Given the description of an element on the screen output the (x, y) to click on. 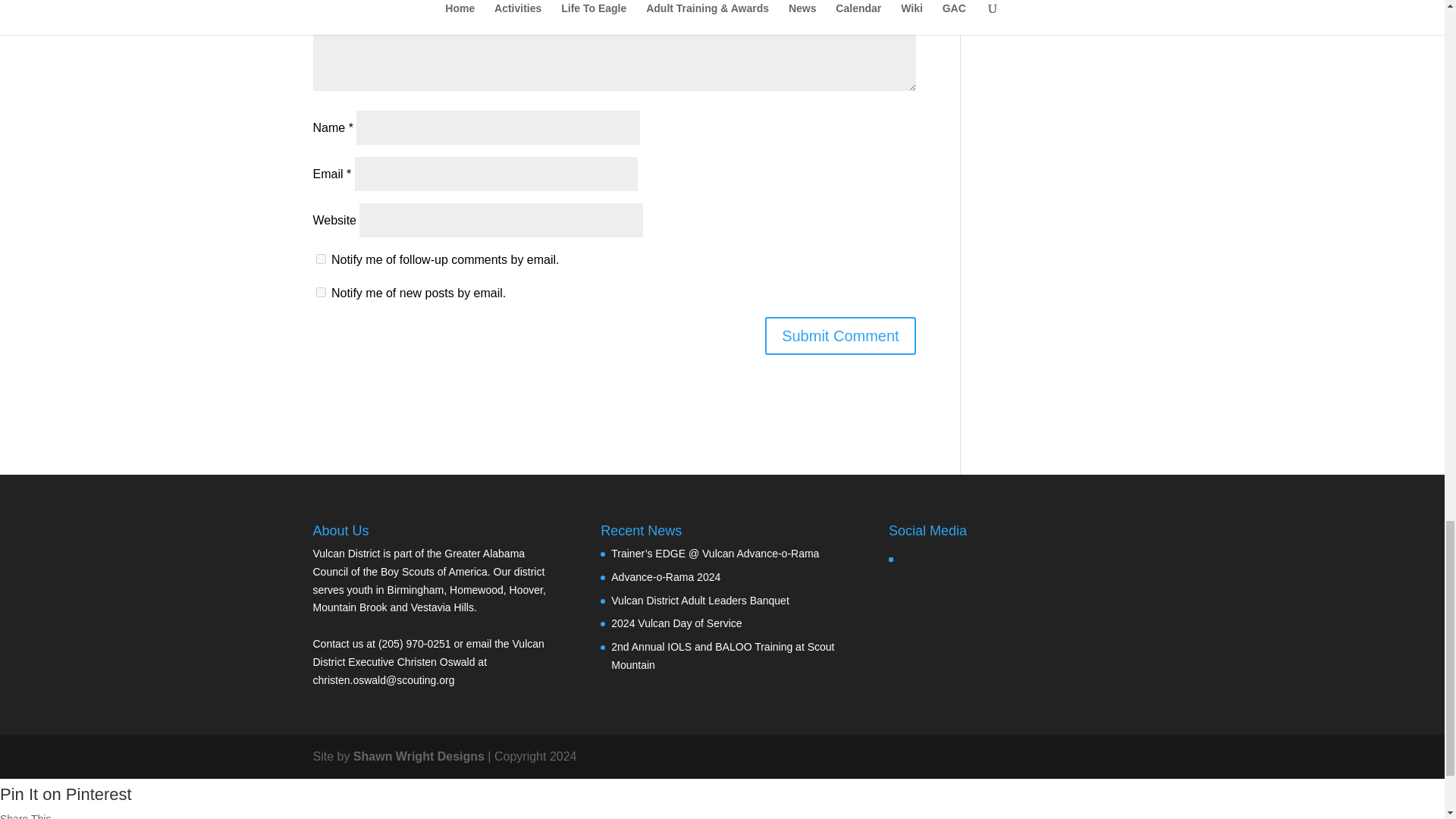
Submit Comment (840, 335)
Submit Comment (840, 335)
subscribe (319, 292)
subscribe (319, 258)
